Given the description of an element on the screen output the (x, y) to click on. 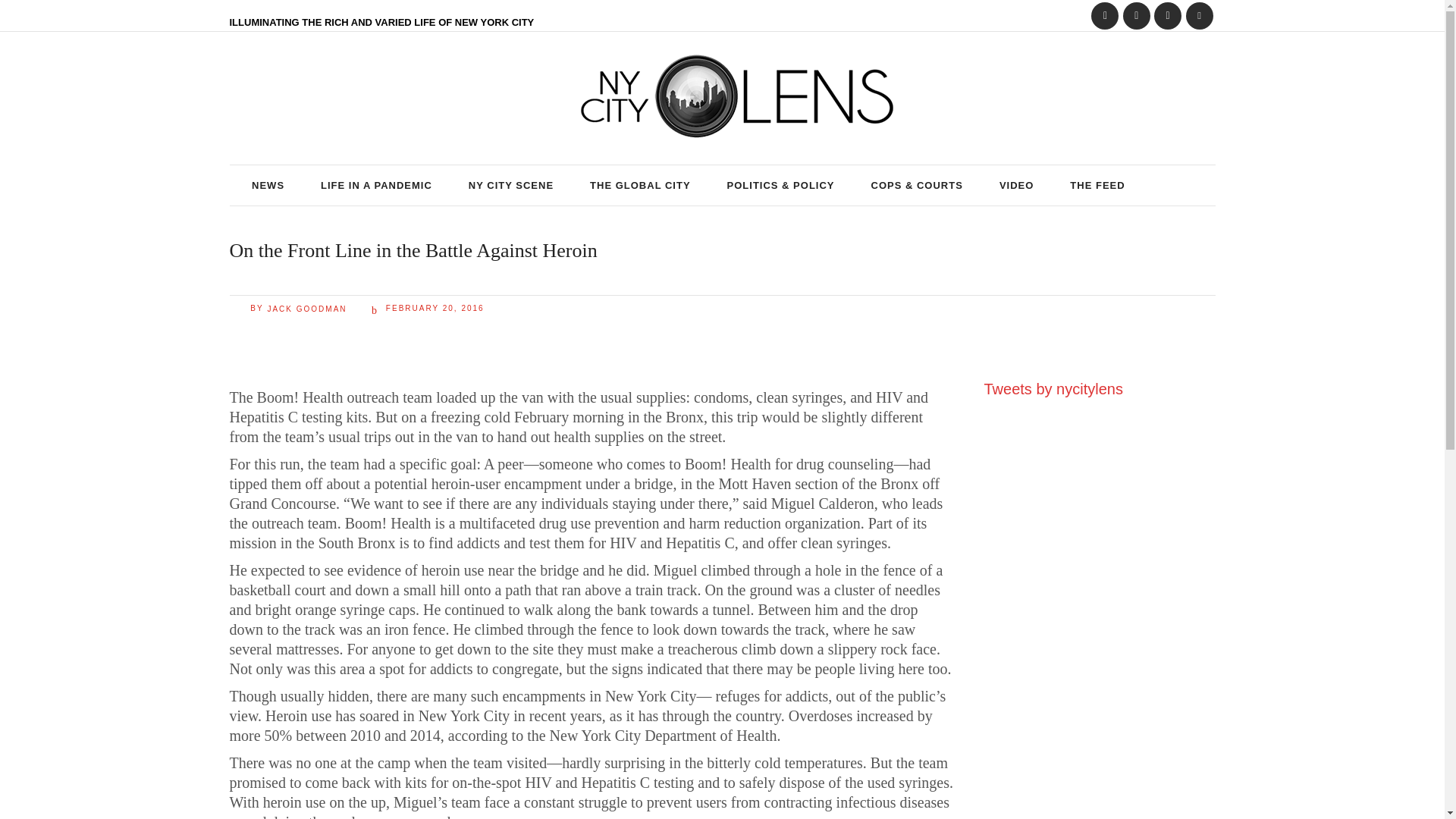
THE GLOBAL CITY (639, 185)
THE FEED (1096, 185)
JACK GOODMAN (306, 308)
Tweets by nycitylens (1053, 388)
LIFE IN A PANDEMIC (375, 185)
NEWS (267, 185)
VIDEO (1016, 185)
FEBRUARY 20, 2016 (427, 308)
NY CITY SCENE (510, 185)
